Given the description of an element on the screen output the (x, y) to click on. 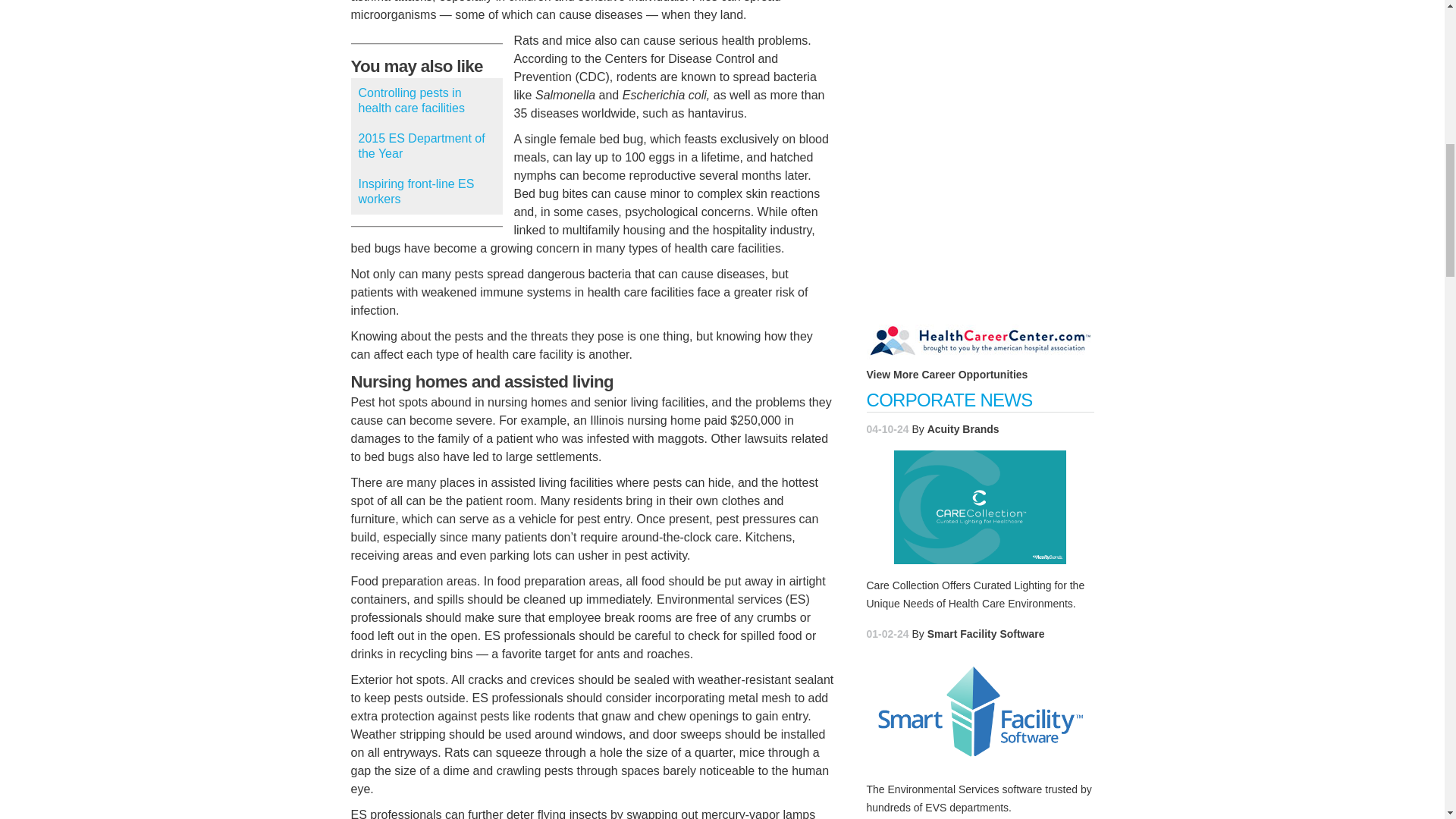
Health Career Center (946, 374)
Health Career Center (979, 337)
